Given the description of an element on the screen output the (x, y) to click on. 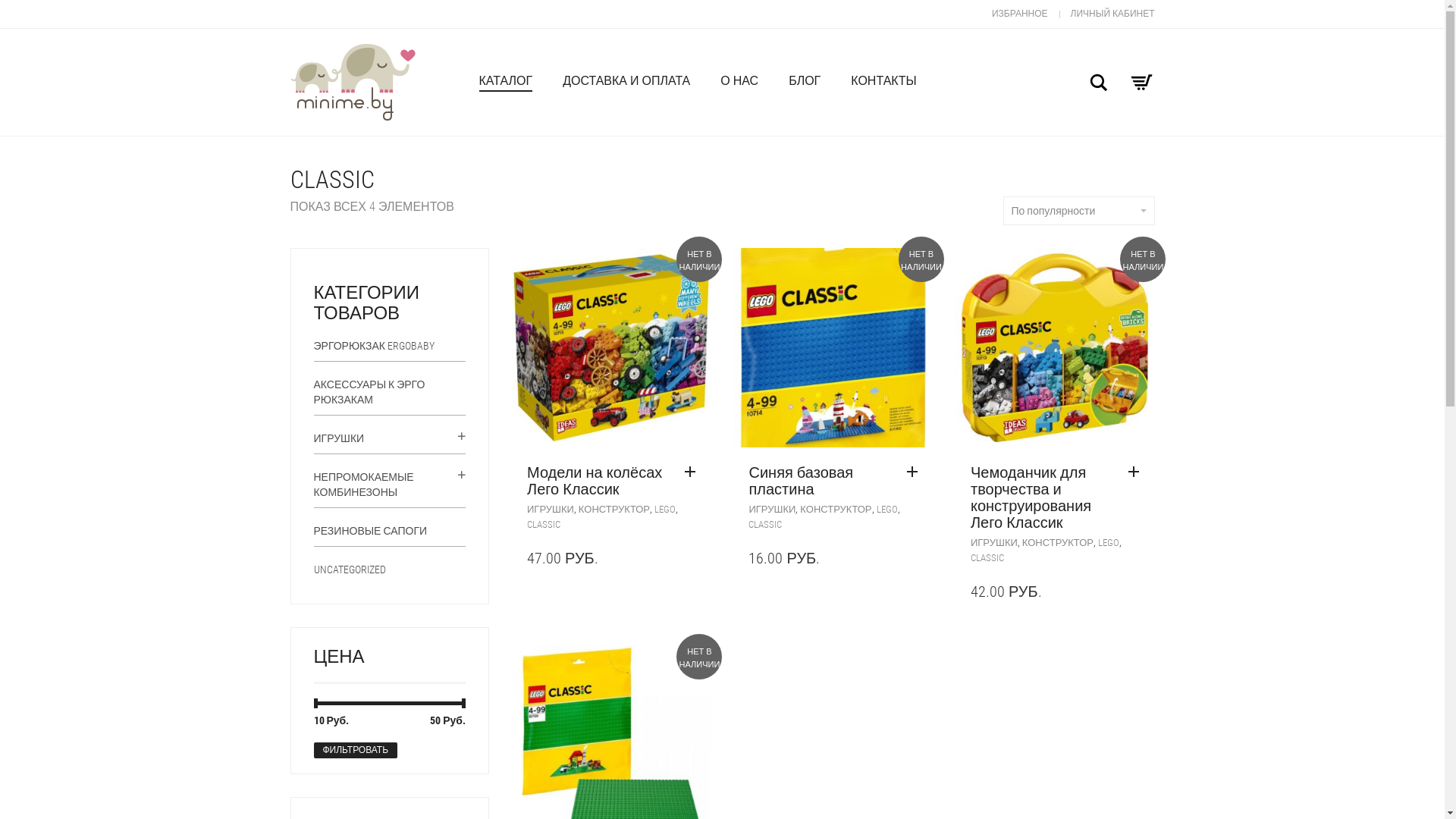
CLASSIC Element type: text (764, 524)
CLASSIC Element type: text (543, 524)
LEGO Element type: text (1108, 542)
UNCATEGORIZED Element type: text (349, 569)
CLASSIC Element type: text (987, 557)
LEGO Element type: text (664, 508)
LEGO Element type: text (886, 508)
